Given the description of an element on the screen output the (x, y) to click on. 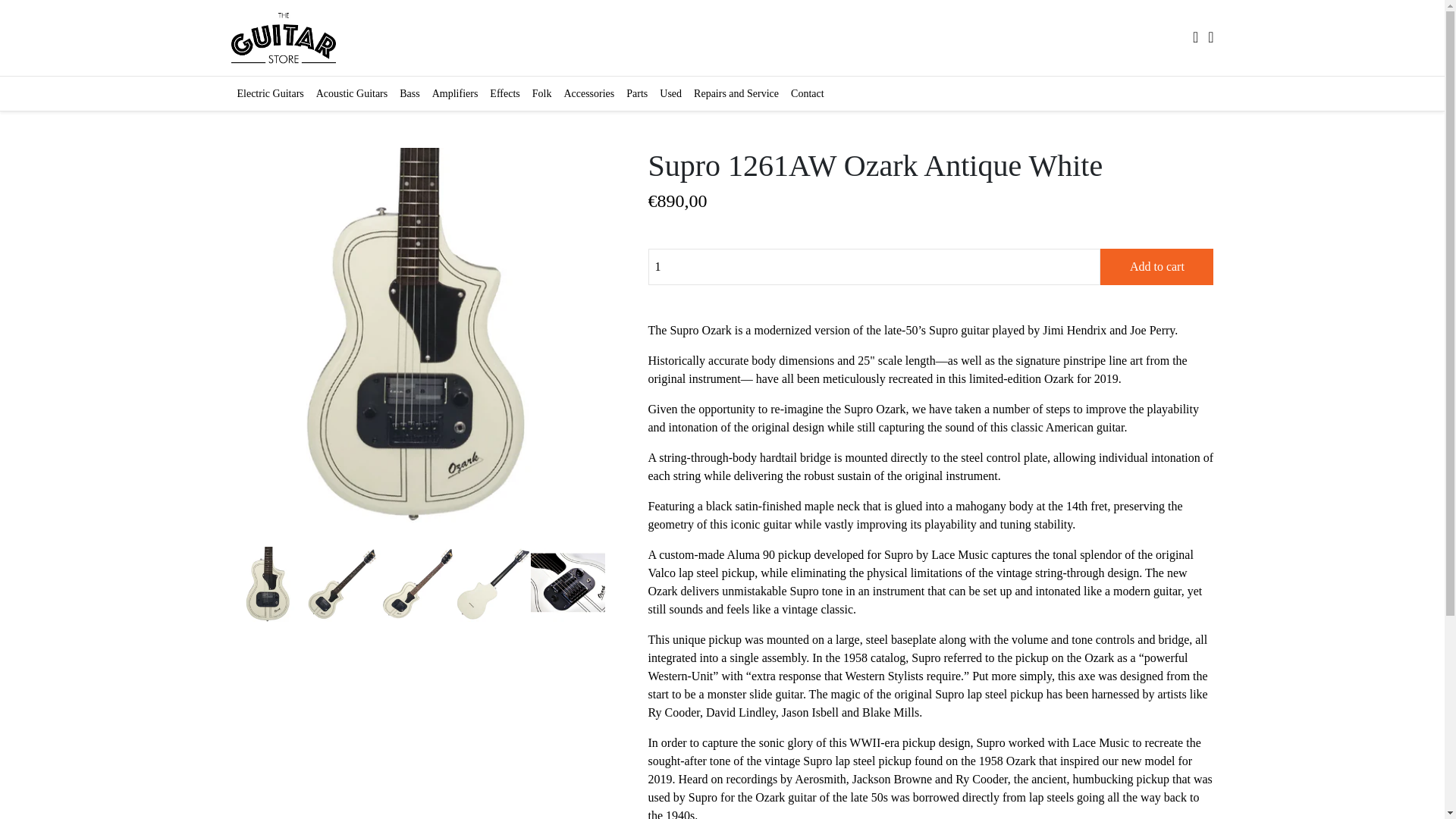
Electric Guitars (269, 93)
Repairs and Service (735, 93)
Accessories (588, 93)
Folk (541, 93)
Amplifiers (455, 93)
Add to cart (1156, 266)
1 (873, 266)
Contact (806, 93)
Used (670, 93)
Parts (636, 93)
Acoustic Guitars (351, 93)
Bass (409, 93)
Effects (504, 93)
